Given the description of an element on the screen output the (x, y) to click on. 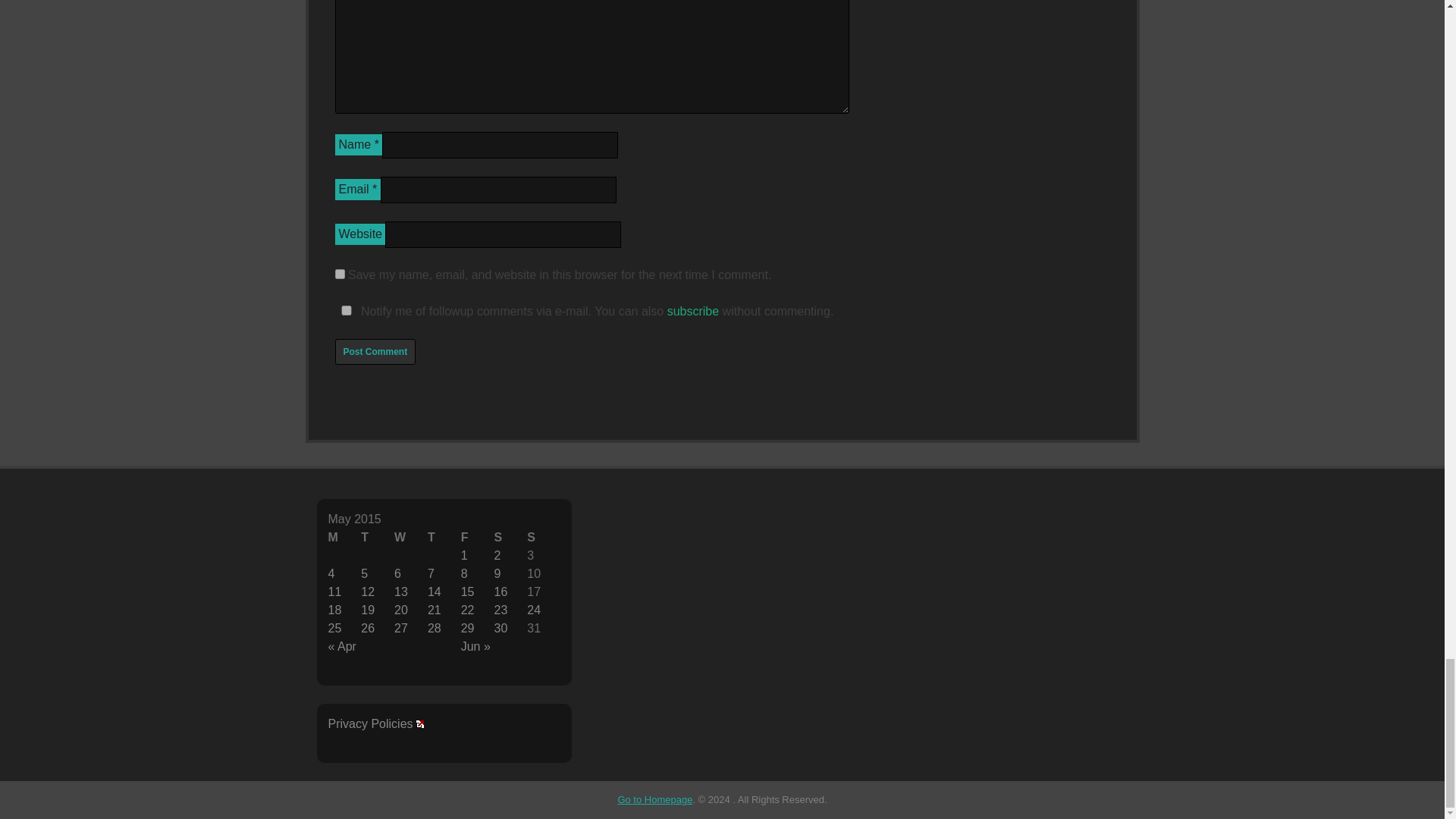
Monday (344, 537)
Friday (478, 537)
Saturday (510, 537)
Wednesday (411, 537)
yes (339, 274)
Sunday (543, 537)
Post Comment (375, 351)
yes (346, 310)
Tuesday (377, 537)
Thursday (444, 537)
